Given the description of an element on the screen output the (x, y) to click on. 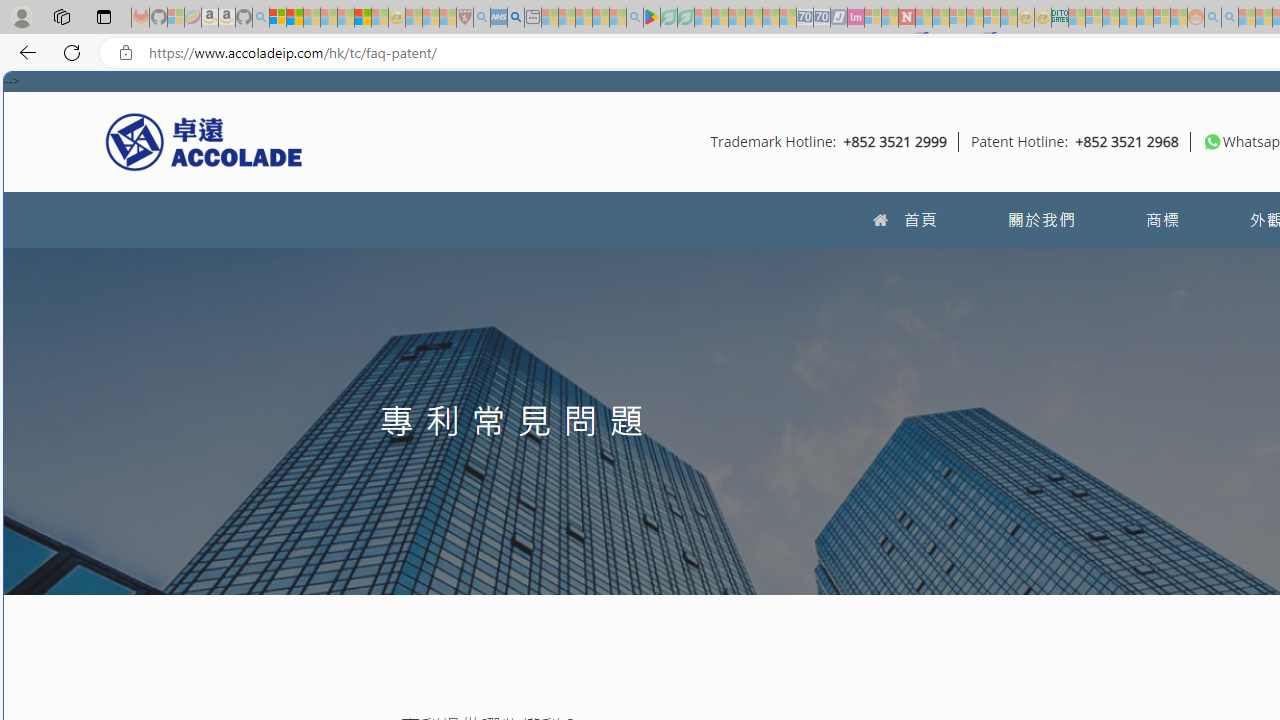
Local - MSN - Sleeping (447, 17)
Kinda Frugal - MSN - Sleeping (1144, 17)
